Given the description of an element on the screen output the (x, y) to click on. 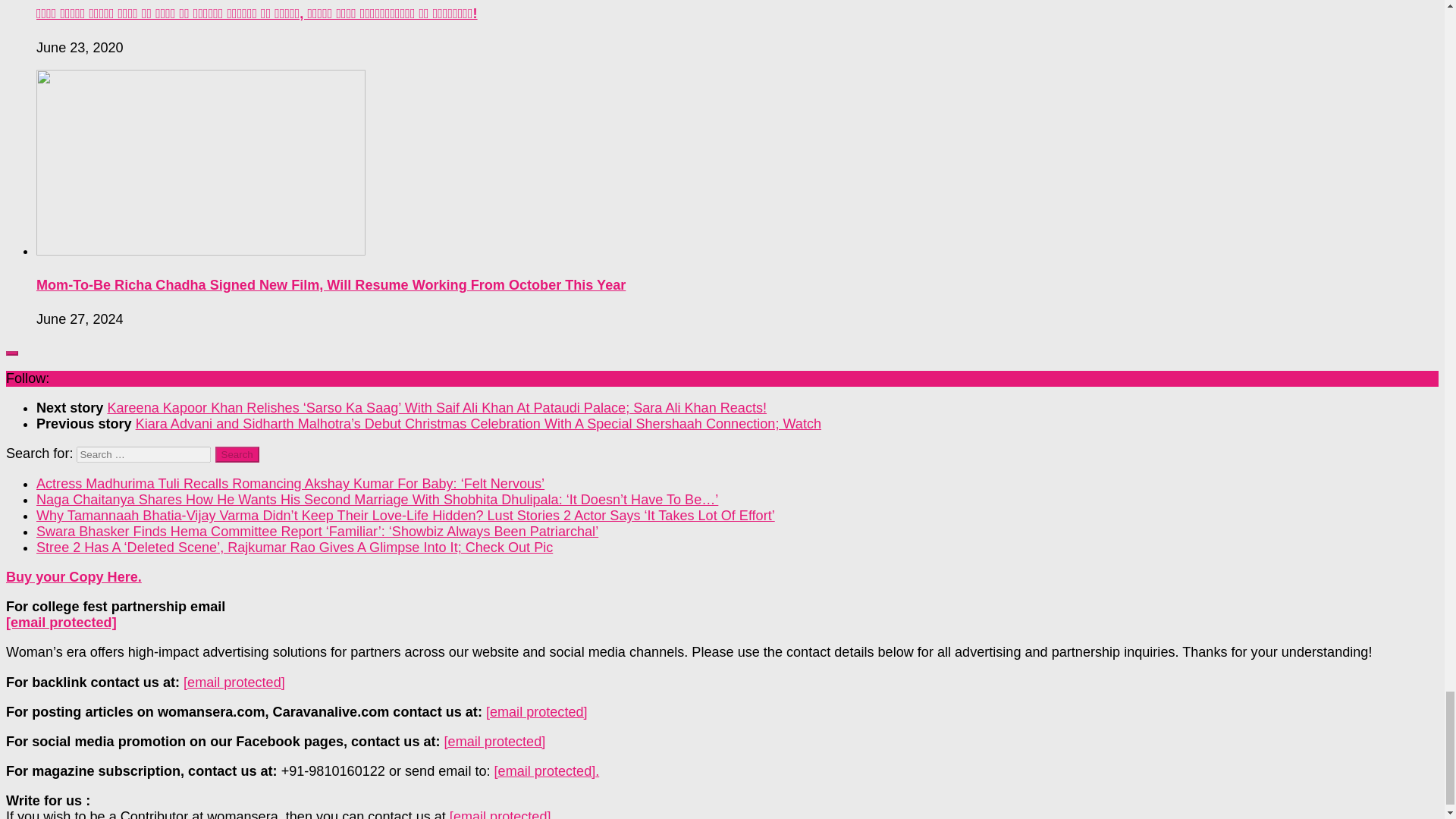
Search (237, 454)
Search (237, 454)
Expand Sidebar (11, 353)
